Given the description of an element on the screen output the (x, y) to click on. 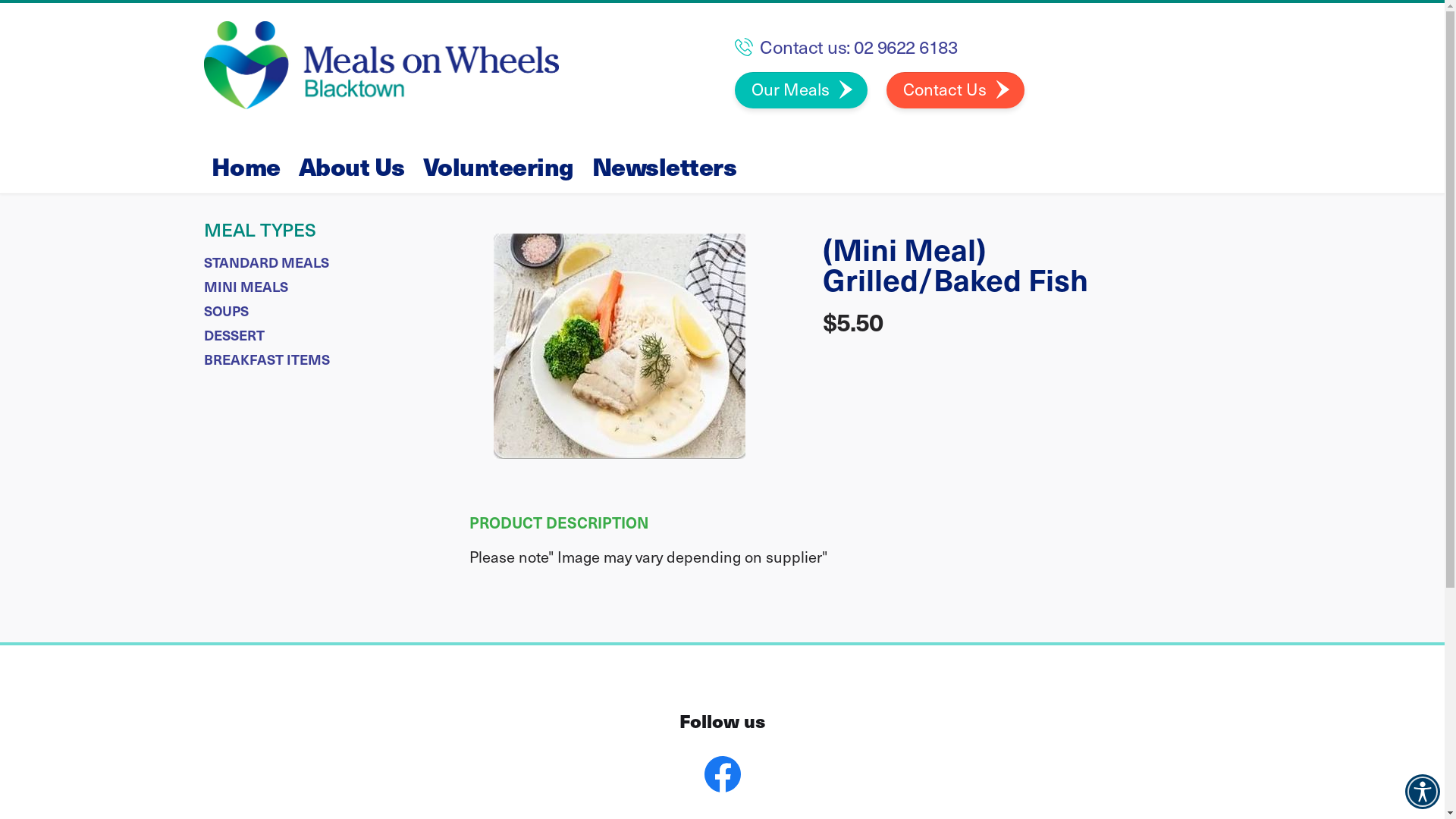
SOUPS Element type: text (225, 310)
About Us Element type: text (351, 165)
DESSERT Element type: text (233, 334)
Our Meals Element type: text (800, 90)
Volunteering Element type: text (498, 165)
MINI MEALS Element type: text (245, 286)
Newsletters Element type: text (663, 165)
STANDARD MEALS Element type: text (265, 261)
02 9622 6183 Element type: text (905, 45)
Home Element type: text (244, 165)
BREAKFAST ITEMS Element type: text (266, 358)
Contact Us Element type: text (954, 90)
